Given the description of an element on the screen output the (x, y) to click on. 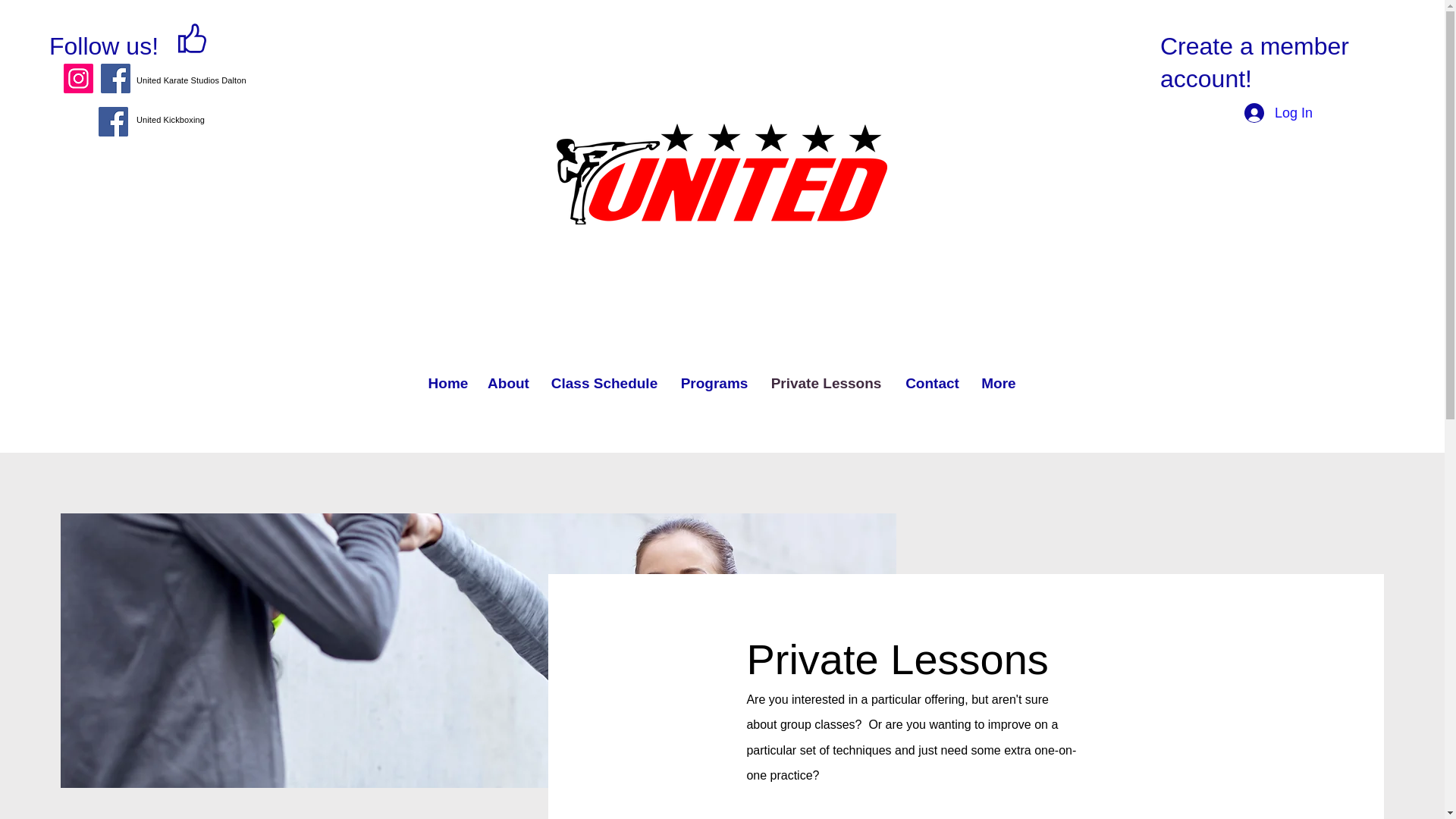
Contact (932, 383)
Programs (713, 383)
Home (448, 383)
Class Schedule (604, 383)
Log In (1278, 113)
About (508, 383)
Private Lessons (826, 383)
